Given the description of an element on the screen output the (x, y) to click on. 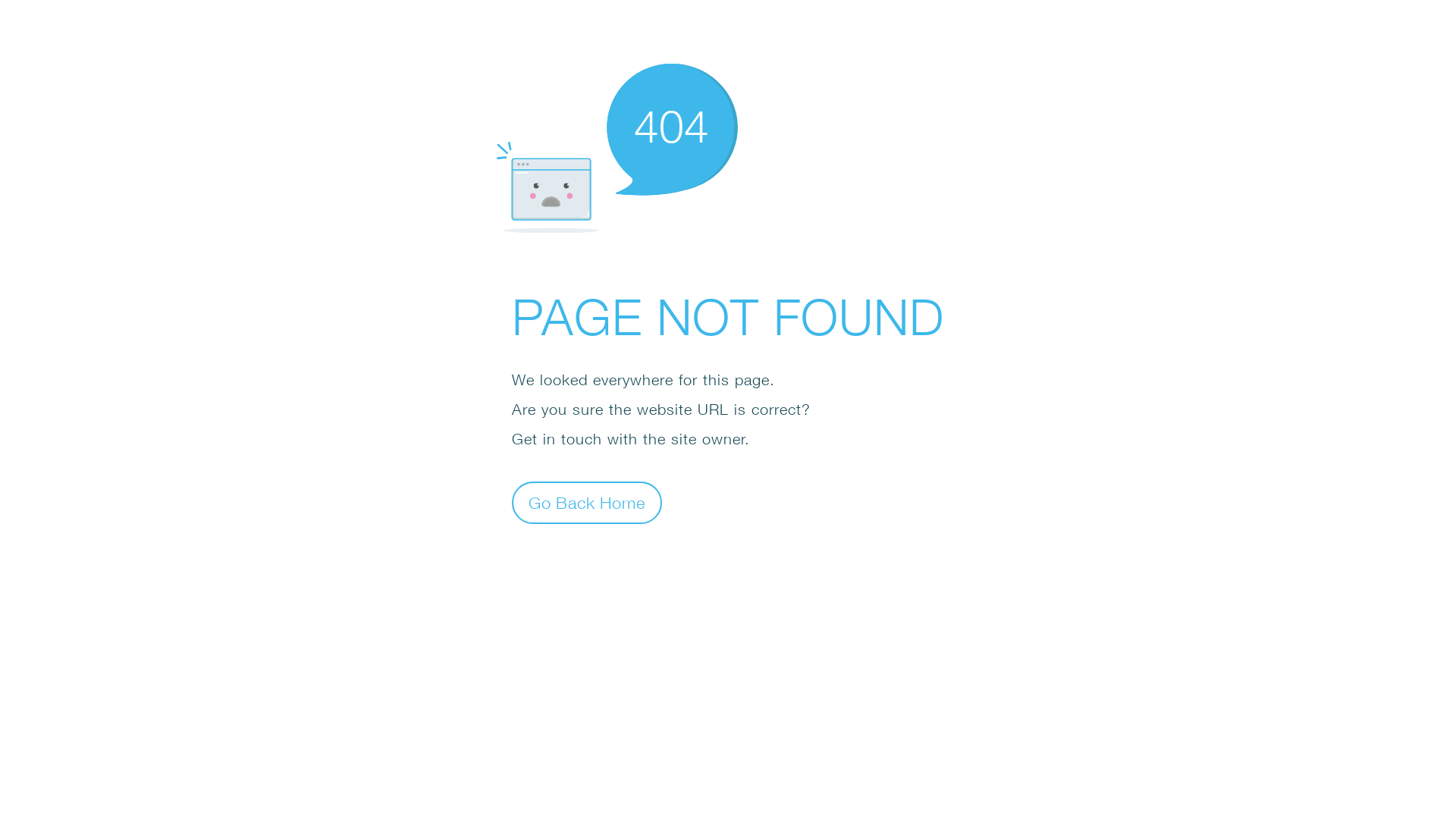
Go Back Home Element type: text (586, 502)
